Given the description of an element on the screen output the (x, y) to click on. 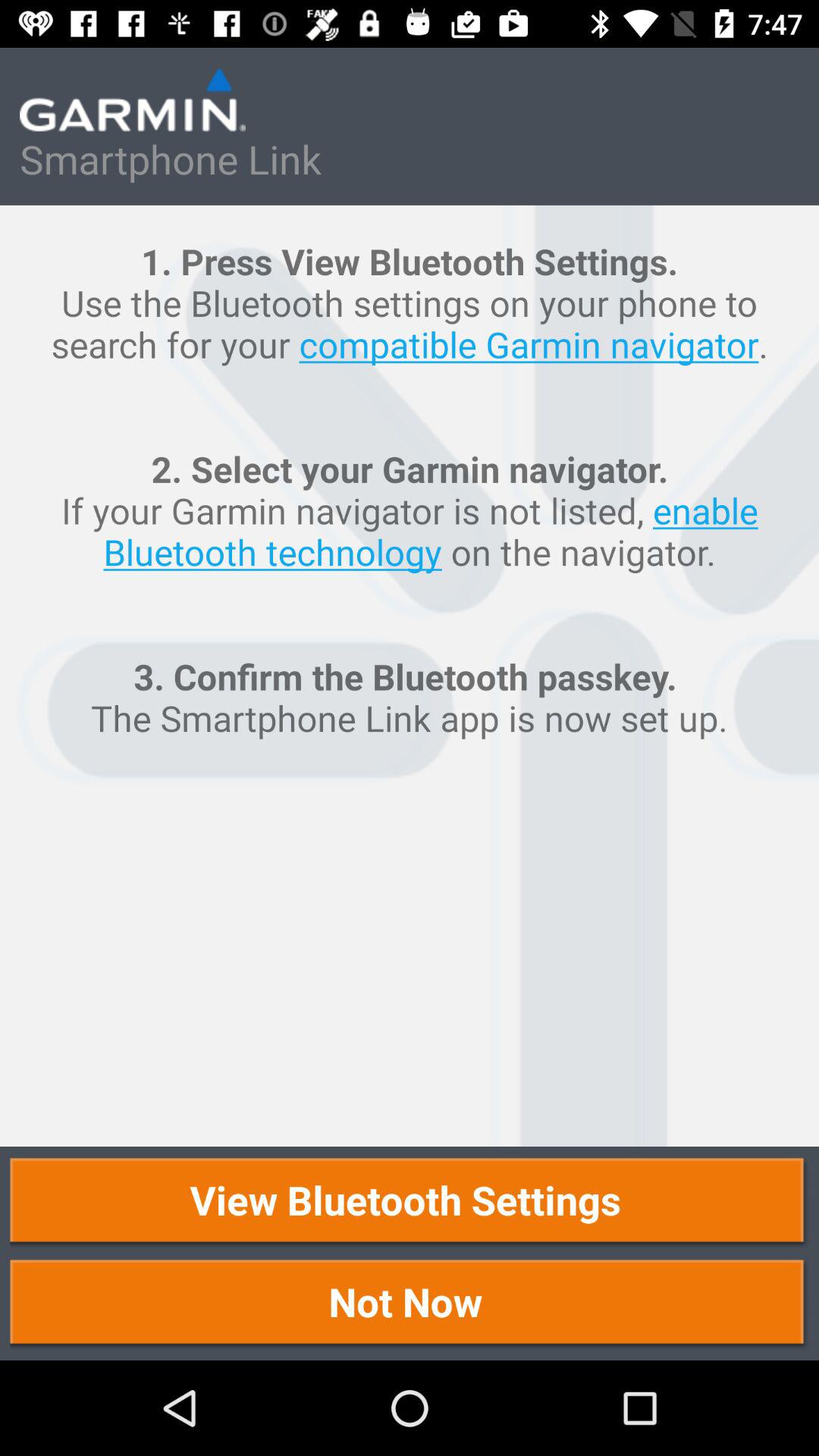
open 1 press view item (409, 675)
